Given the description of an element on the screen output the (x, y) to click on. 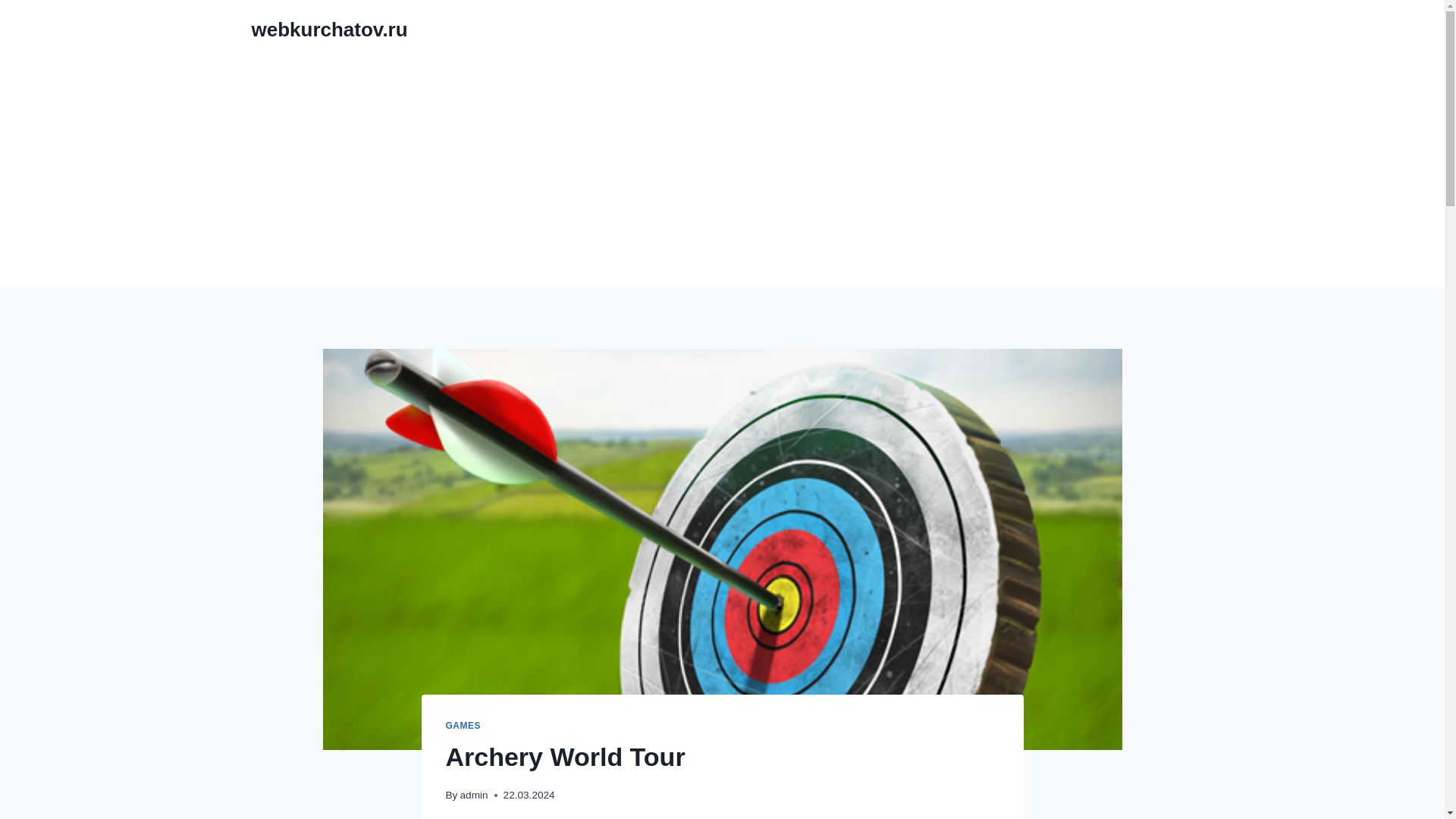
GAMES (463, 725)
admin (473, 794)
webkurchatov.ru (329, 29)
